Given the description of an element on the screen output the (x, y) to click on. 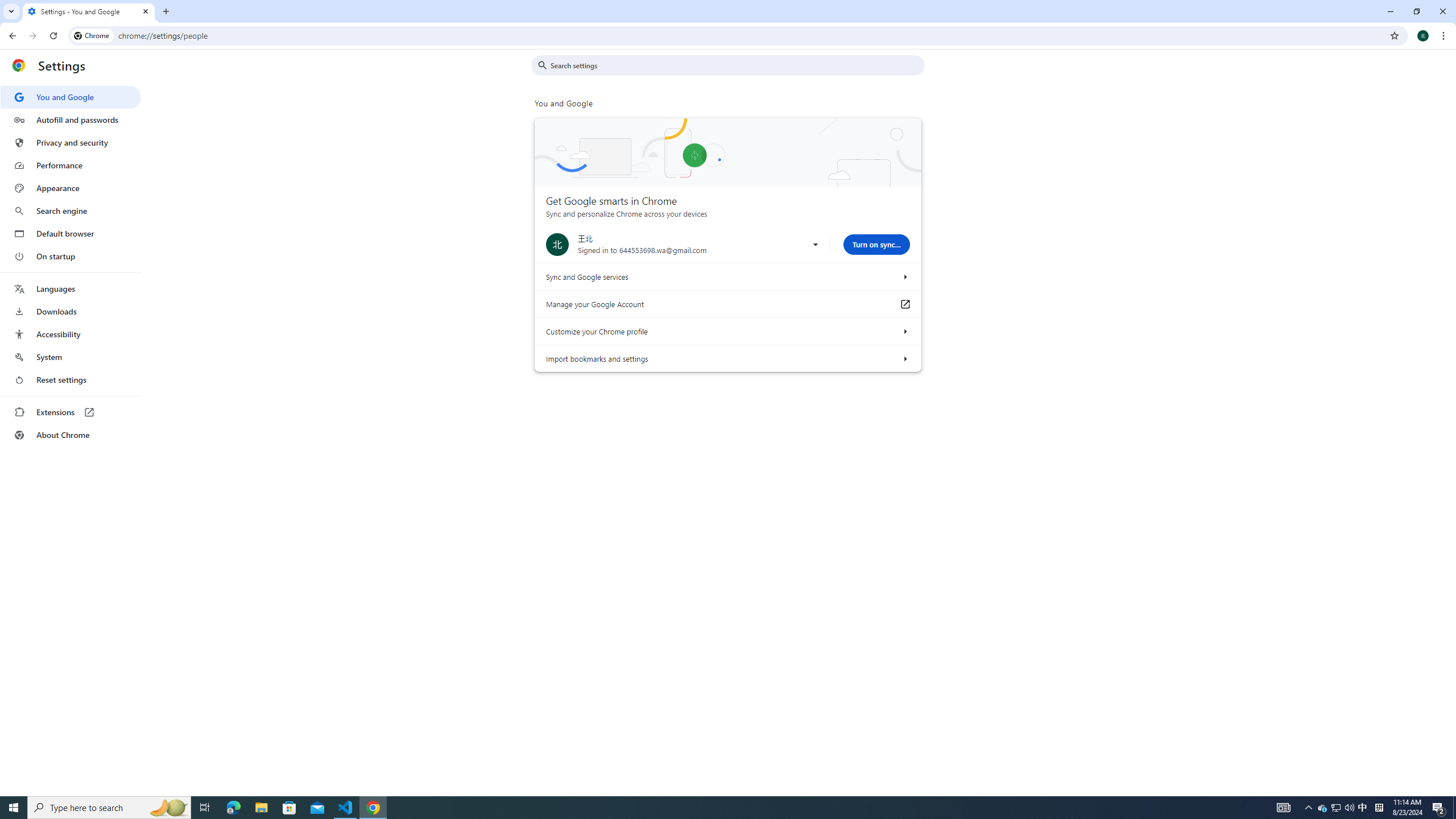
Address and search bar (750, 35)
Settings - You and Google (88, 11)
Performance (70, 164)
Downloads (70, 311)
